Given the description of an element on the screen output the (x, y) to click on. 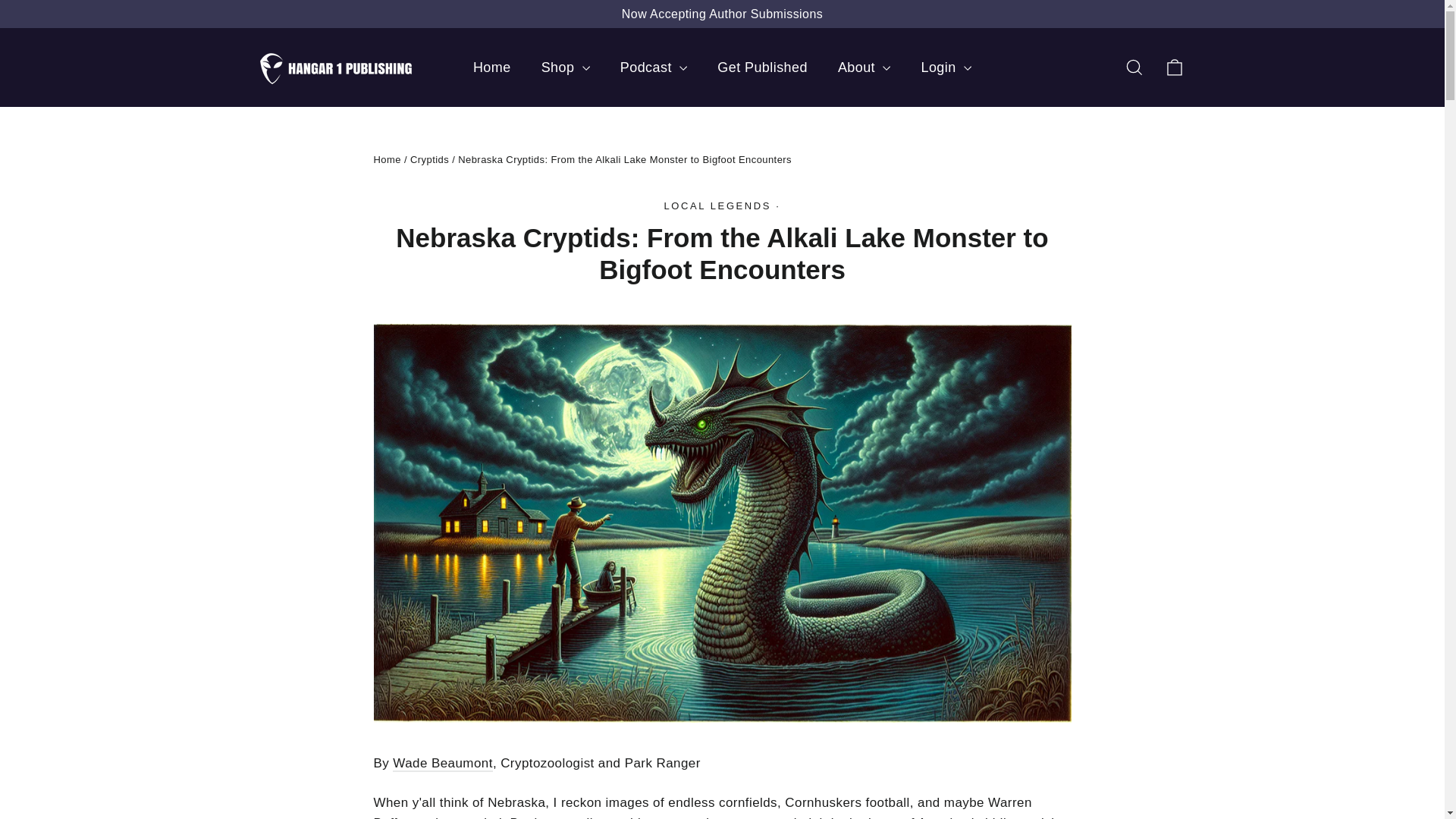
icon-bag-minimal (1174, 66)
Back to the frontpage (386, 159)
icon-search (1134, 66)
